Given the description of an element on the screen output the (x, y) to click on. 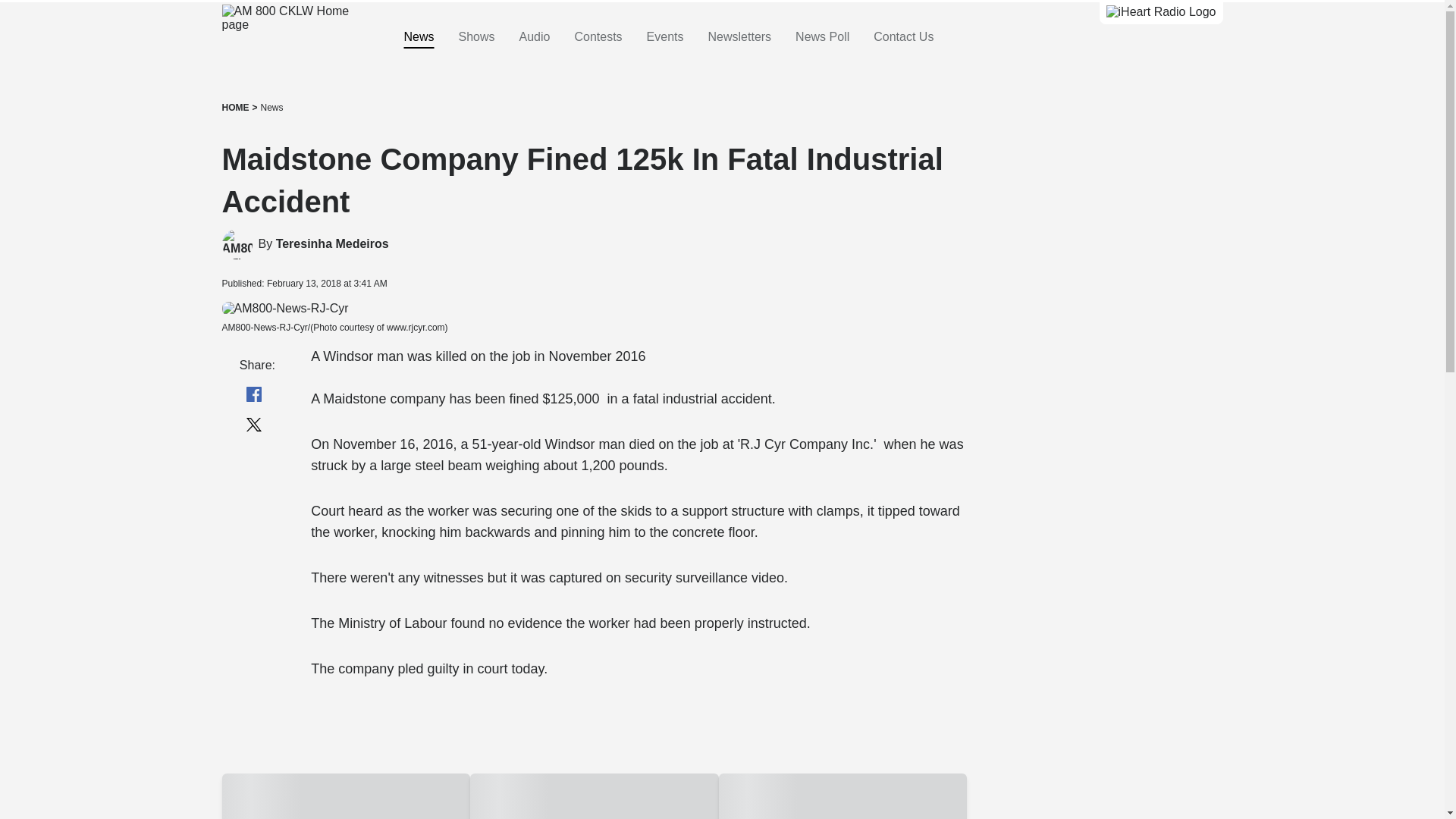
Teresinha Medeiros (332, 243)
Newsletters (739, 37)
Contact Us (903, 37)
HOME (234, 107)
Contests (597, 37)
Teresinha Medeiros (236, 244)
News Poll (821, 37)
News (271, 107)
Teresinha Medeiros (332, 243)
